Given the description of an element on the screen output the (x, y) to click on. 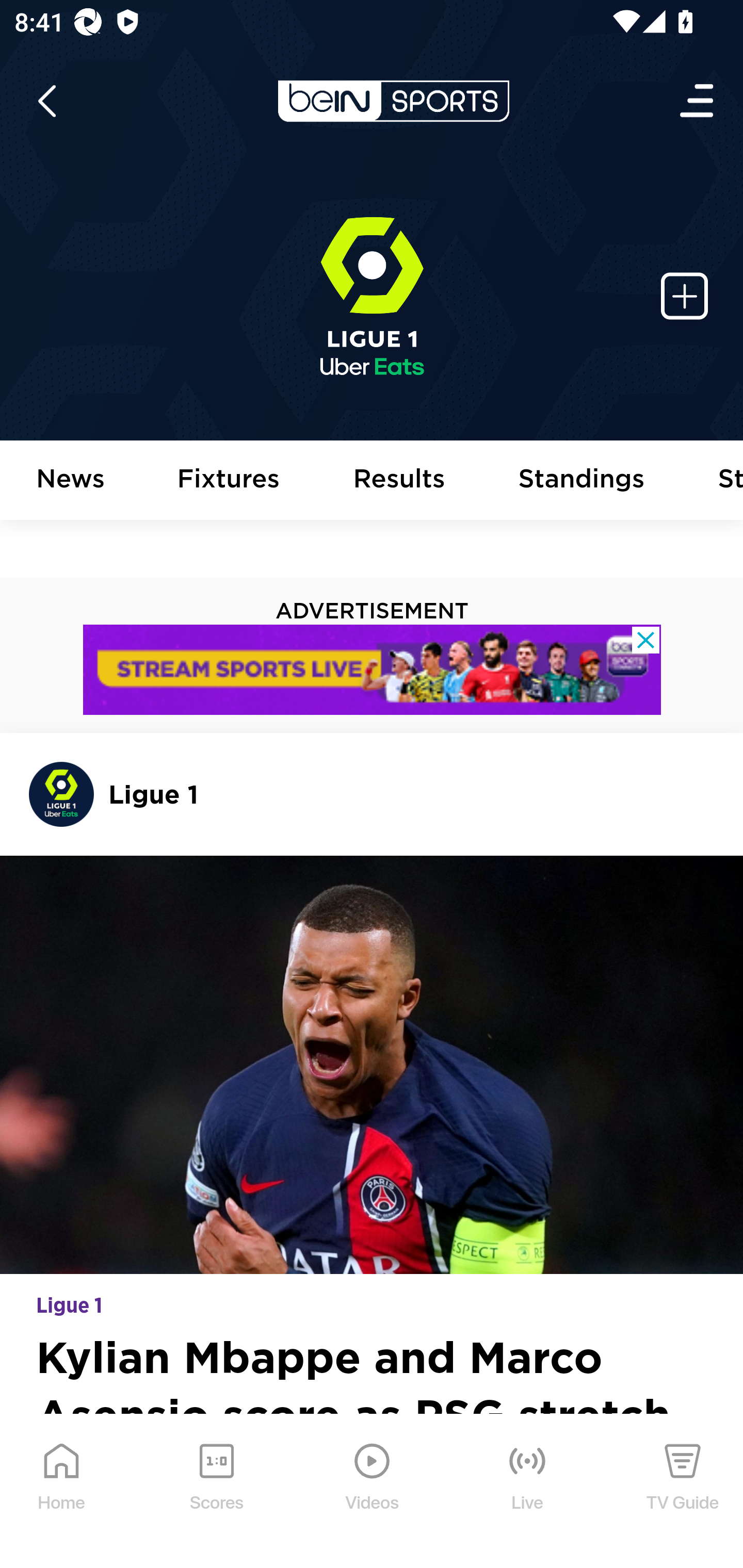
en-my?platform=mobile_android bein logo white (392, 101)
icon back (46, 101)
Open Menu Icon (697, 101)
News (70, 480)
Fixtures (229, 480)
Results (399, 480)
Standings (581, 480)
l8psv8uu (372, 670)
Home Home Icon Home (61, 1491)
Scores Scores Icon Scores (216, 1491)
Videos Videos Icon Videos (372, 1491)
TV Guide TV Guide Icon TV Guide (682, 1491)
